Given the description of an element on the screen output the (x, y) to click on. 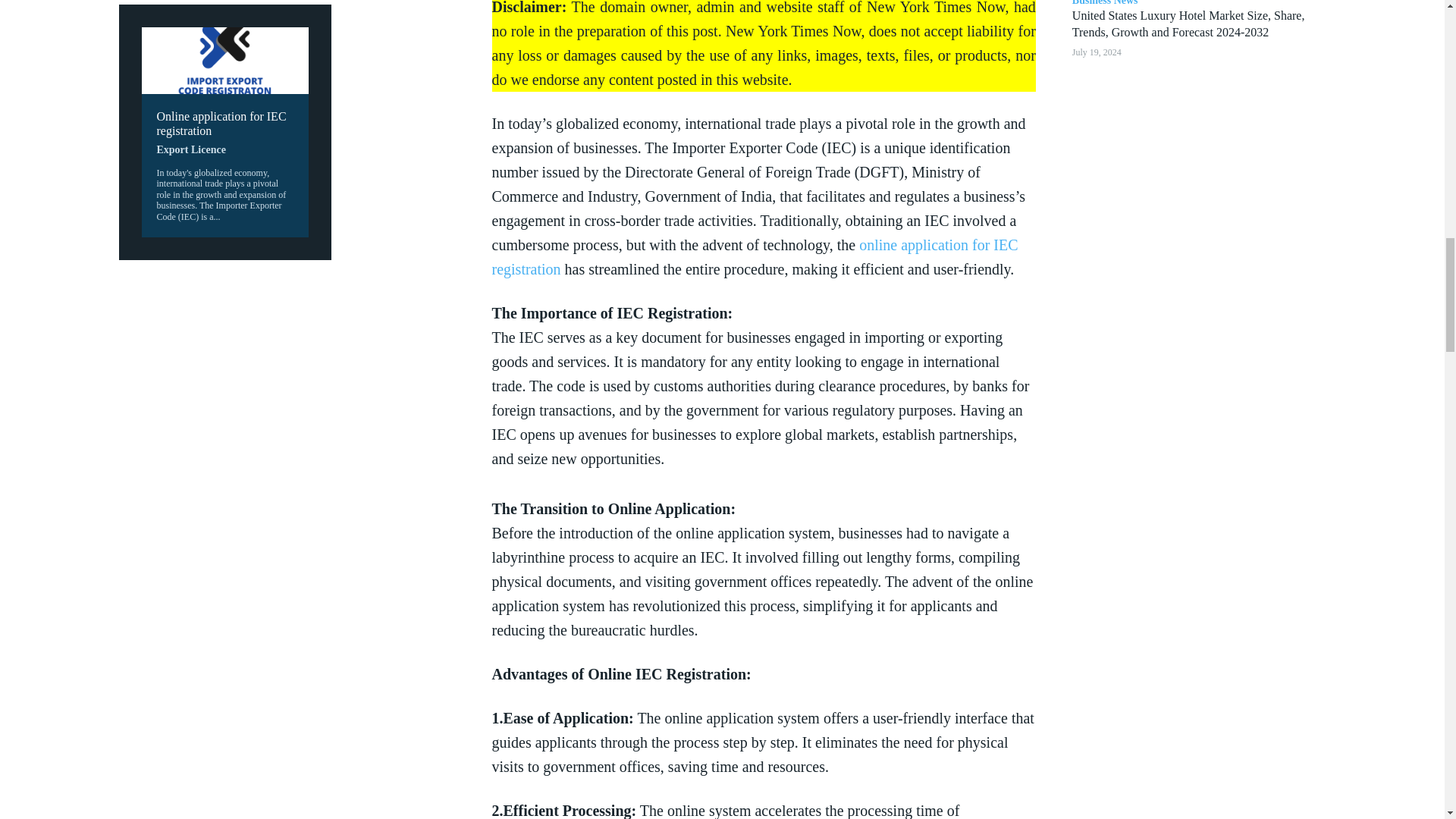
Online application for IEC registration (224, 60)
Online application for IEC registration (220, 123)
